Given the description of an element on the screen output the (x, y) to click on. 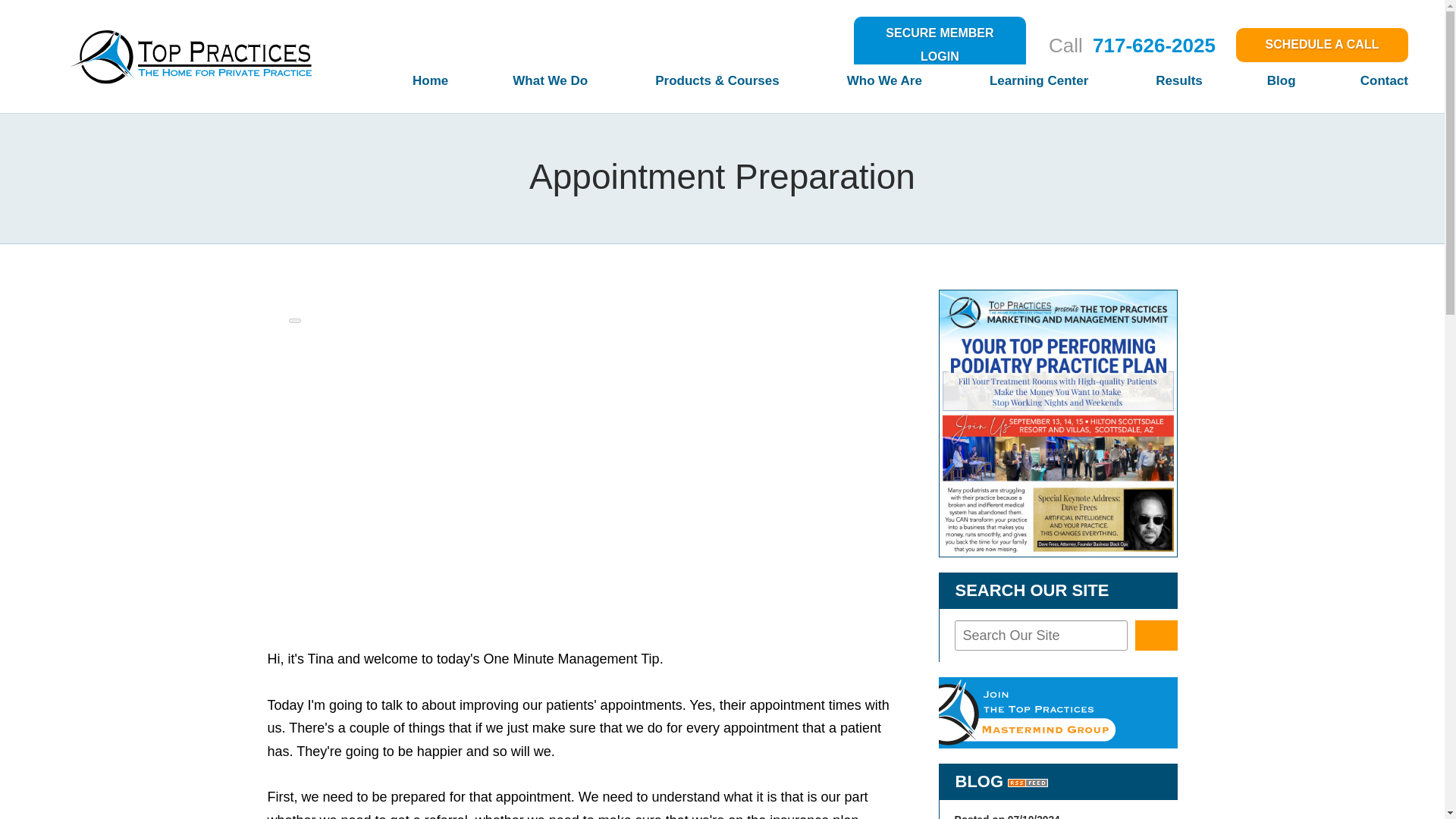
Search (1156, 634)
Home (397, 86)
Who We Are (853, 86)
What We Do (519, 86)
Subscribe to our RSS Feed (1027, 781)
SCHEDULE A CALL (1321, 44)
SECURE MEMBER LOGIN (939, 44)
Learning Center (1007, 86)
